Given the description of an element on the screen output the (x, y) to click on. 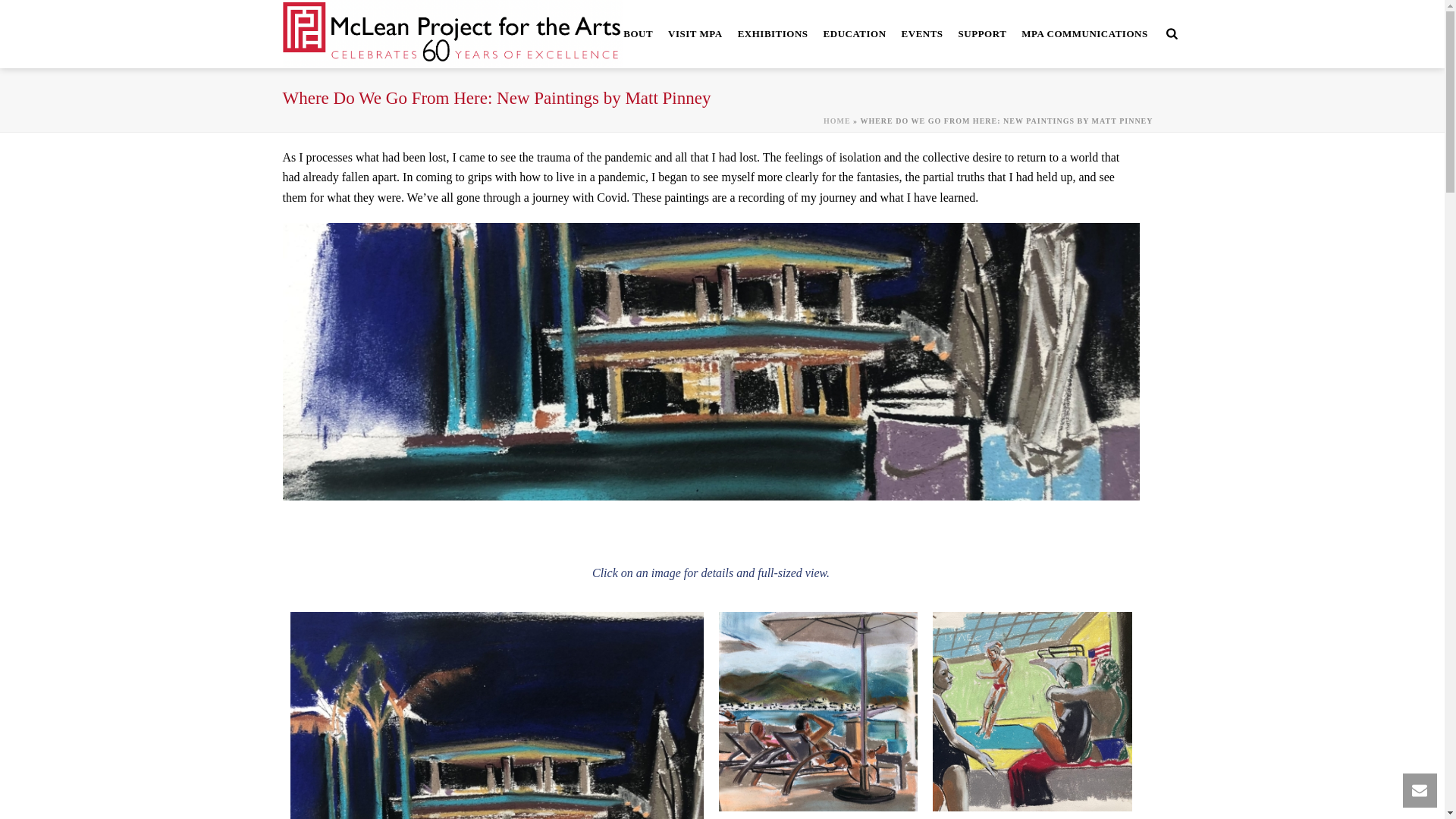
MPA COMMUNICATIONS (1083, 32)
VISIT MPA (695, 32)
EDUCATION (854, 32)
EXHIBITIONS (772, 32)
VISIT MPA (695, 32)
EXHIBITIONS (772, 32)
ABOUT (634, 32)
SUPPORT (982, 32)
MPA COMMUNICATIONS (1083, 32)
EDUCATION (854, 32)
EVENTS (922, 32)
SUPPORT (982, 32)
EVENTS (922, 32)
ABOUT (634, 32)
